Given the description of an element on the screen output the (x, y) to click on. 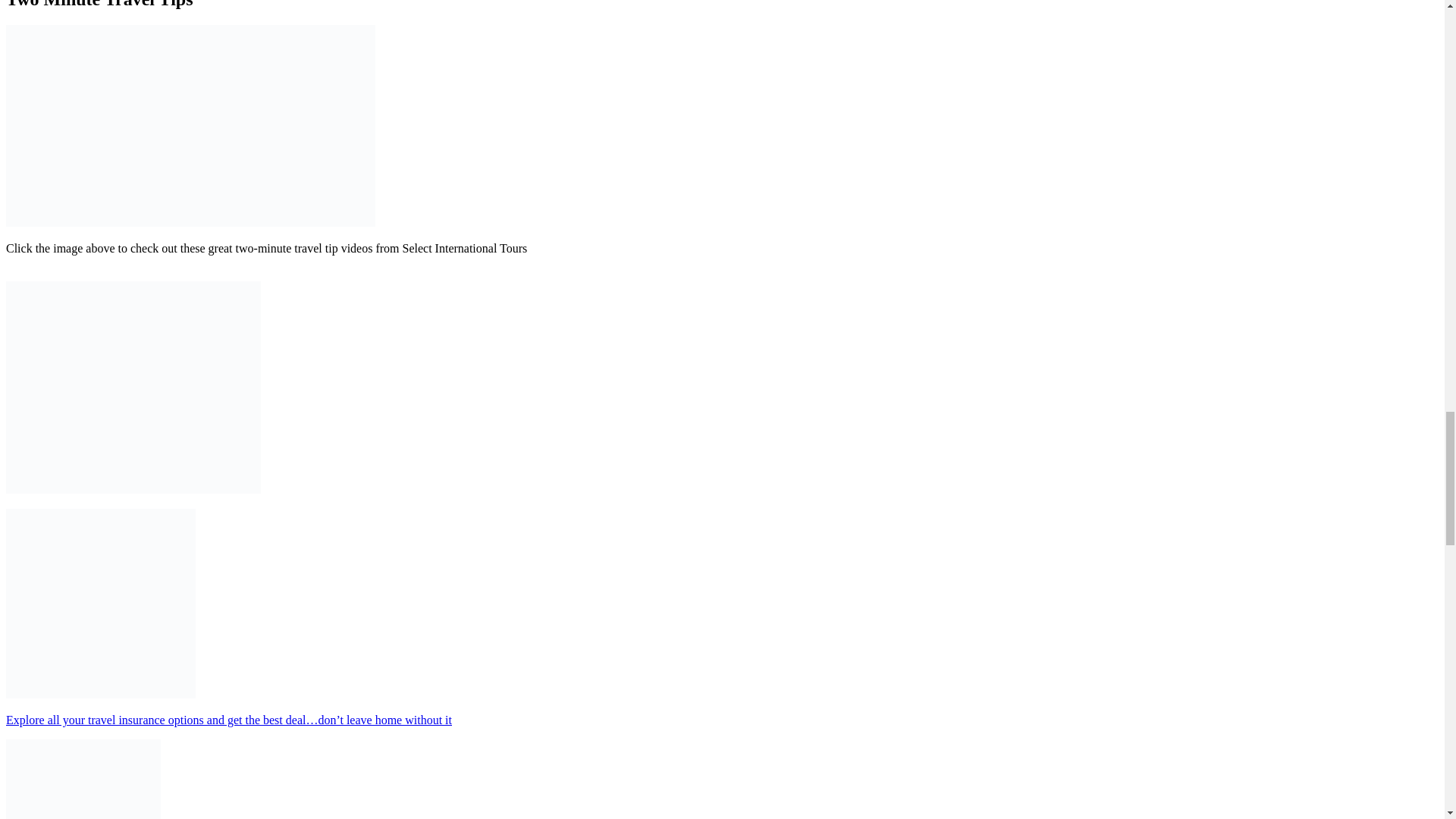
Two Minute Travel Tips (190, 222)
